Given the description of an element on the screen output the (x, y) to click on. 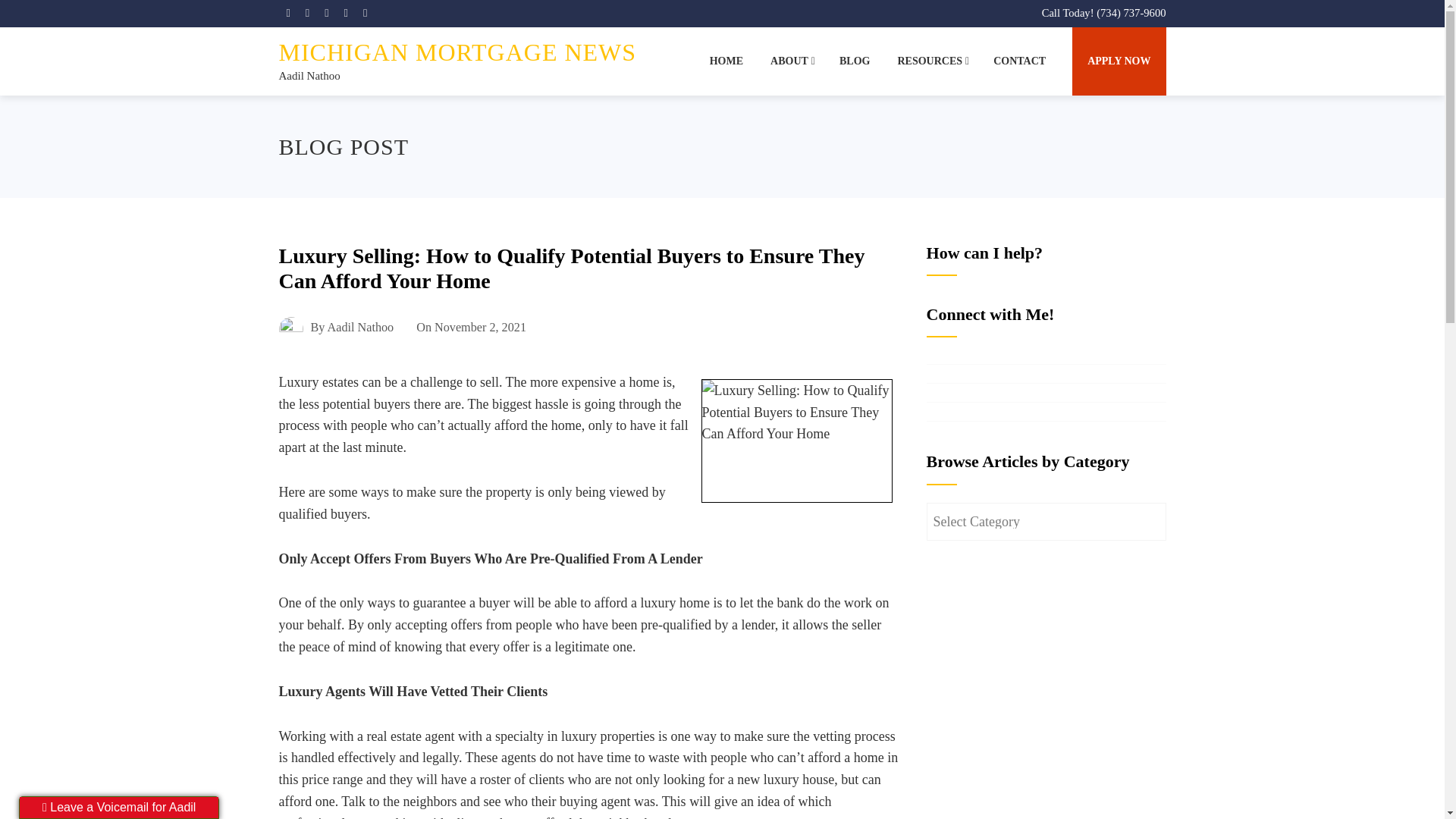
ABOUT (791, 61)
CONTACT (1019, 61)
Aadil Nathoo (309, 75)
MICHIGAN MORTGAGE NEWS (458, 52)
RESOURCES (930, 61)
